Given the description of an element on the screen output the (x, y) to click on. 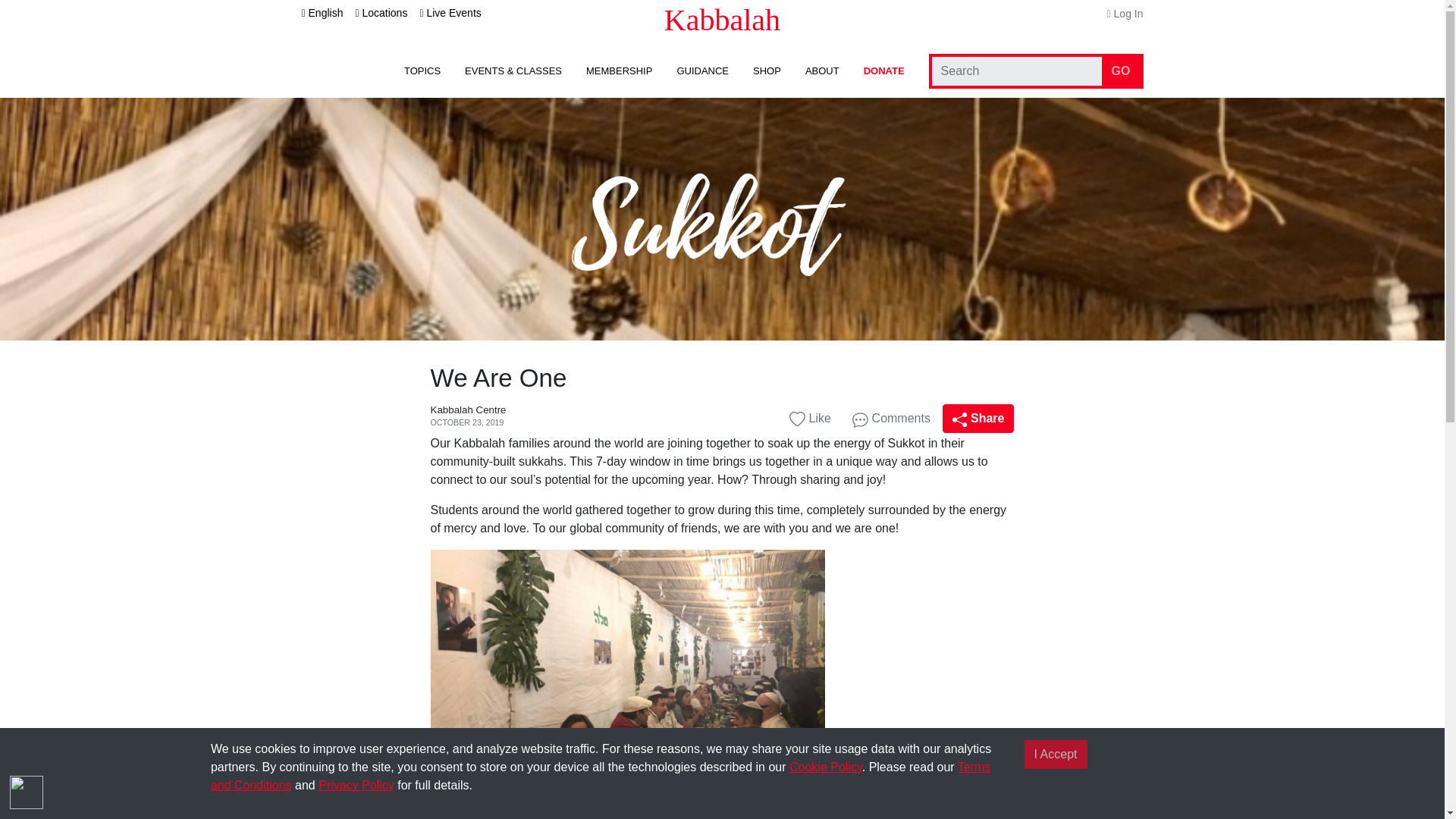
DONATE (883, 70)
MEMBERSHIP (619, 70)
ABOUT (822, 70)
English (322, 12)
GO (1121, 70)
Live Events (449, 12)
Locations (381, 12)
GUIDANCE (703, 70)
Kabbalah (721, 19)
TOPICS (422, 70)
